Given the description of an element on the screen output the (x, y) to click on. 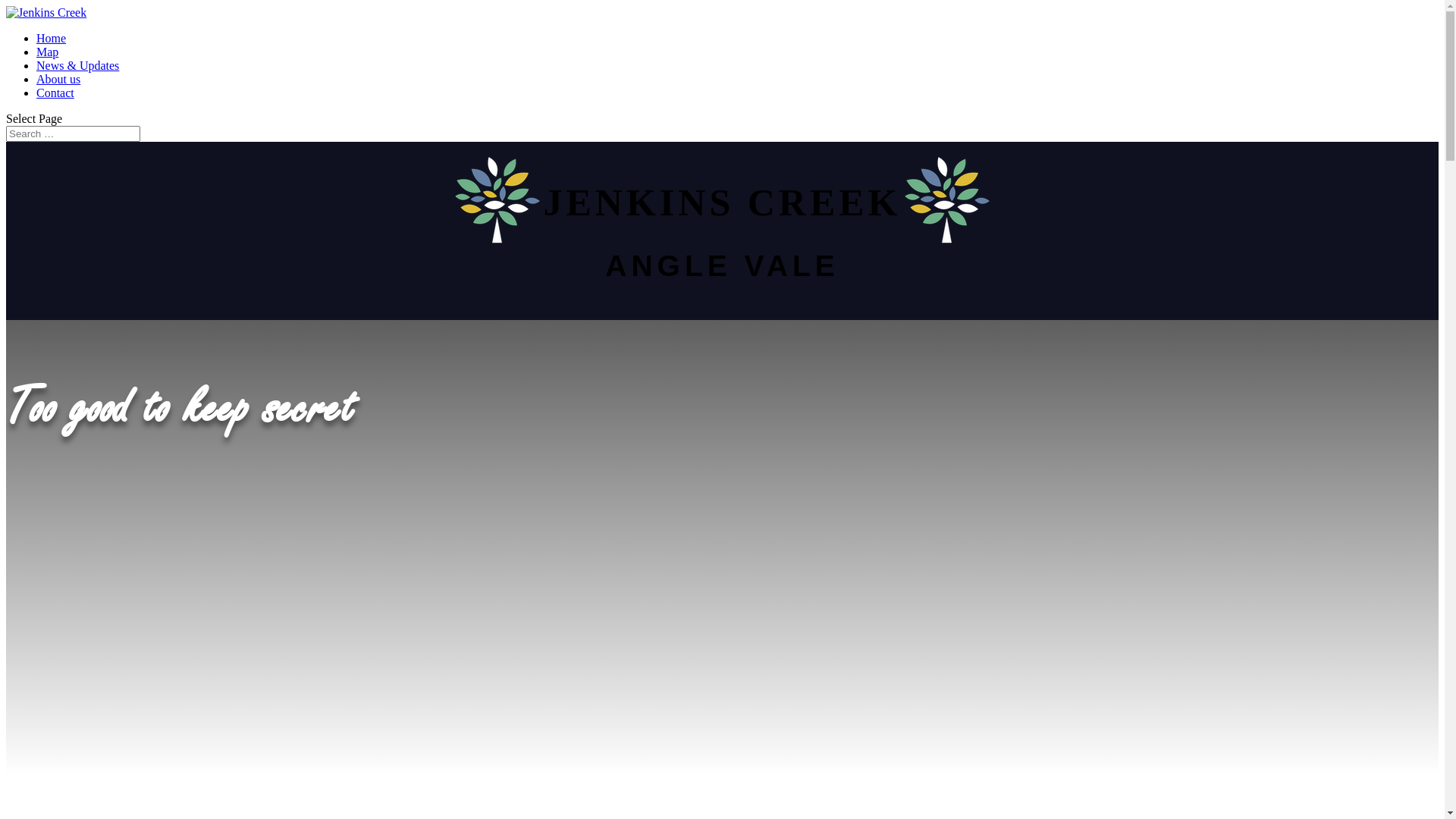
Search for: Element type: hover (73, 133)
Contact Element type: text (55, 92)
Home Element type: text (50, 37)
About us Element type: text (58, 78)
Tree Logo120 Element type: hover (946, 199)
News & Updates Element type: text (77, 65)
Tree Logo120 Element type: hover (496, 199)
Map Element type: text (47, 51)
